Given the description of an element on the screen output the (x, y) to click on. 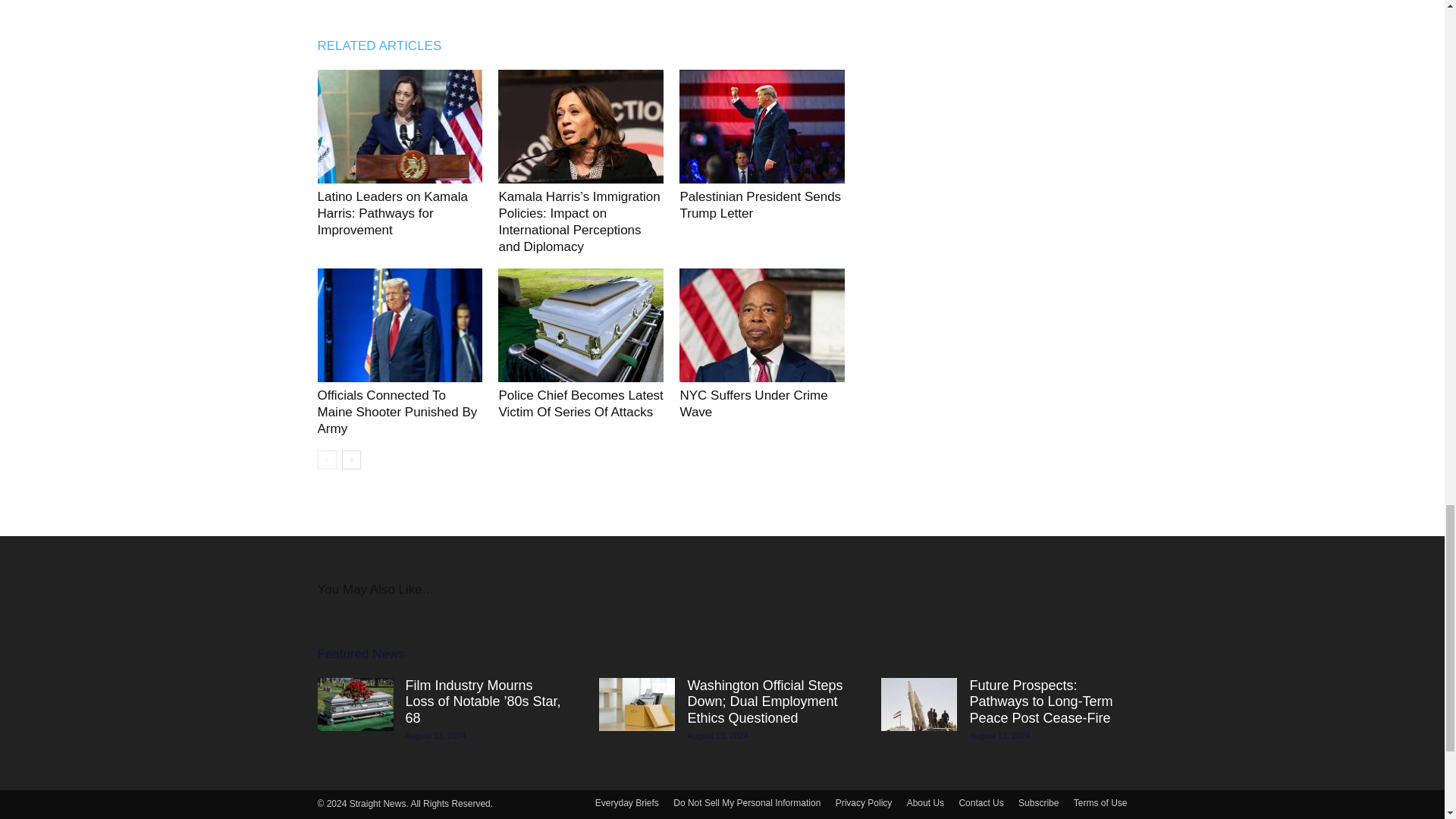
Palestinian President Sends Trump Letter (761, 126)
Officials Connected To Maine Shooter Punished By Army (397, 411)
Officials Connected To Maine Shooter Punished By Army (399, 325)
Police Chief Becomes Latest Victim Of Series Of Attacks (579, 403)
RELATED ARTICLES (387, 45)
Latino Leaders on Kamala Harris: Pathways for Improvement (399, 126)
Palestinian President Sends Trump Letter (760, 204)
Latino Leaders on Kamala Harris: Pathways for Improvement (392, 213)
NYC Suffers Under Crime Wave (753, 403)
Latino Leaders on Kamala Harris: Pathways for Improvement (392, 213)
